Given the description of an element on the screen output the (x, y) to click on. 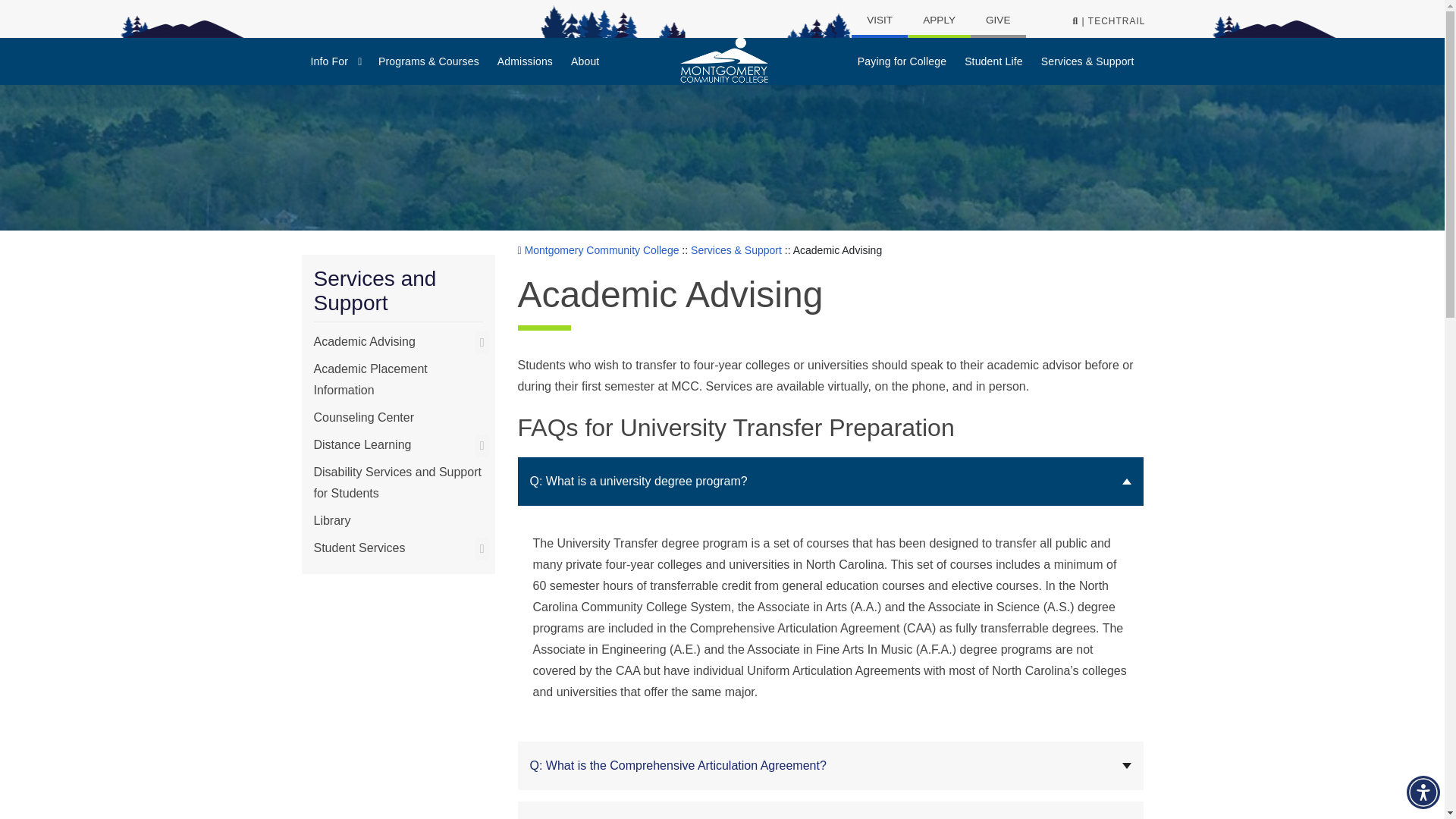
Info For (335, 61)
VISIT (879, 17)
APPLY (939, 17)
GIVE (998, 17)
Go to Montgomery Community College. (597, 250)
Accessibility Menu (1422, 792)
